Given the description of an element on the screen output the (x, y) to click on. 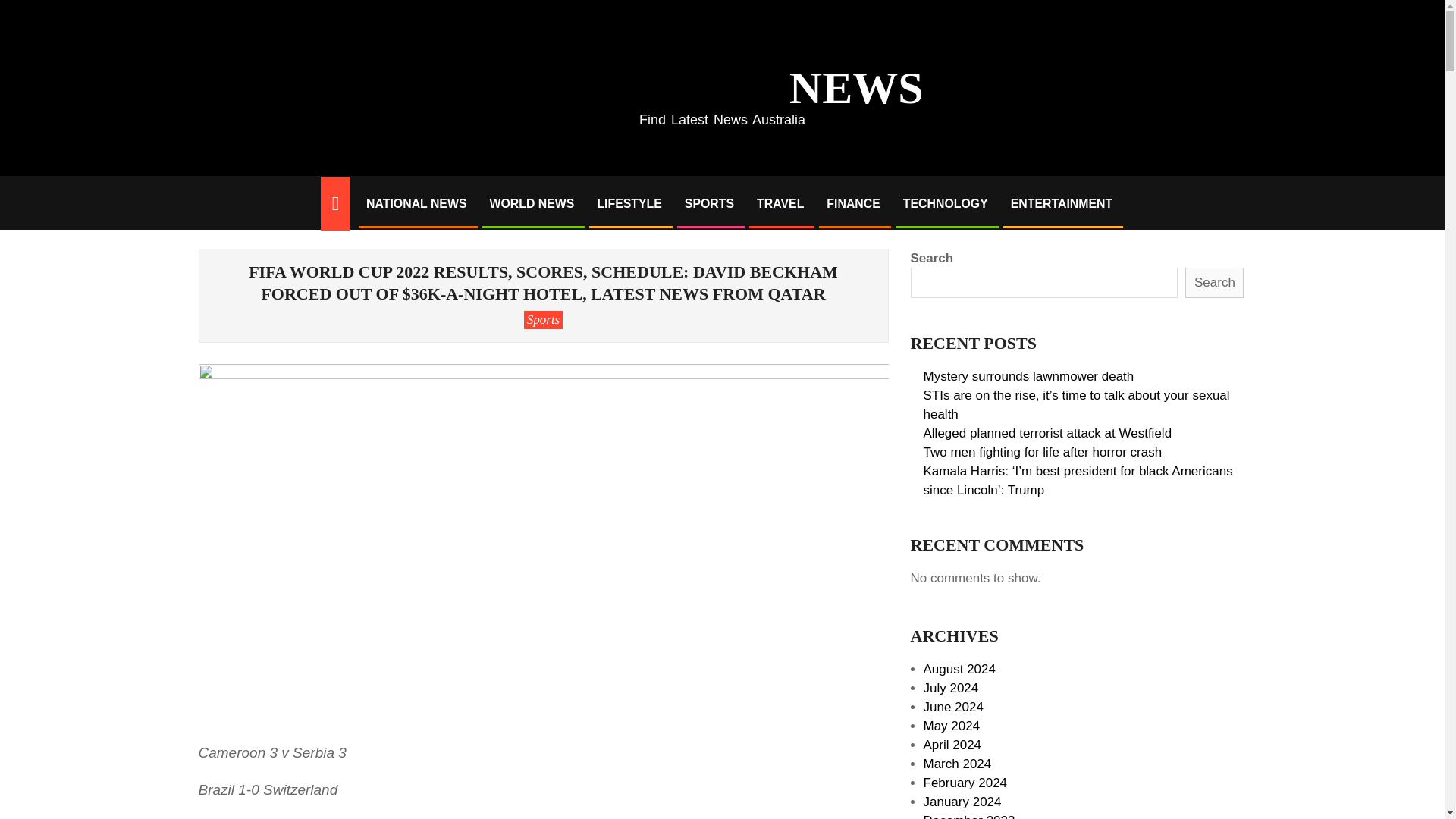
ENTERTAINMENT (1061, 203)
NATIONAL NEWS (416, 203)
TRAVEL (780, 203)
Sports (543, 320)
FINANCE (853, 203)
TECHNOLOGY (944, 203)
WORLD NEWS (531, 203)
AUSTRALIANEWS (721, 81)
SPORTS (708, 203)
LIFESTYLE (628, 203)
